Given the description of an element on the screen output the (x, y) to click on. 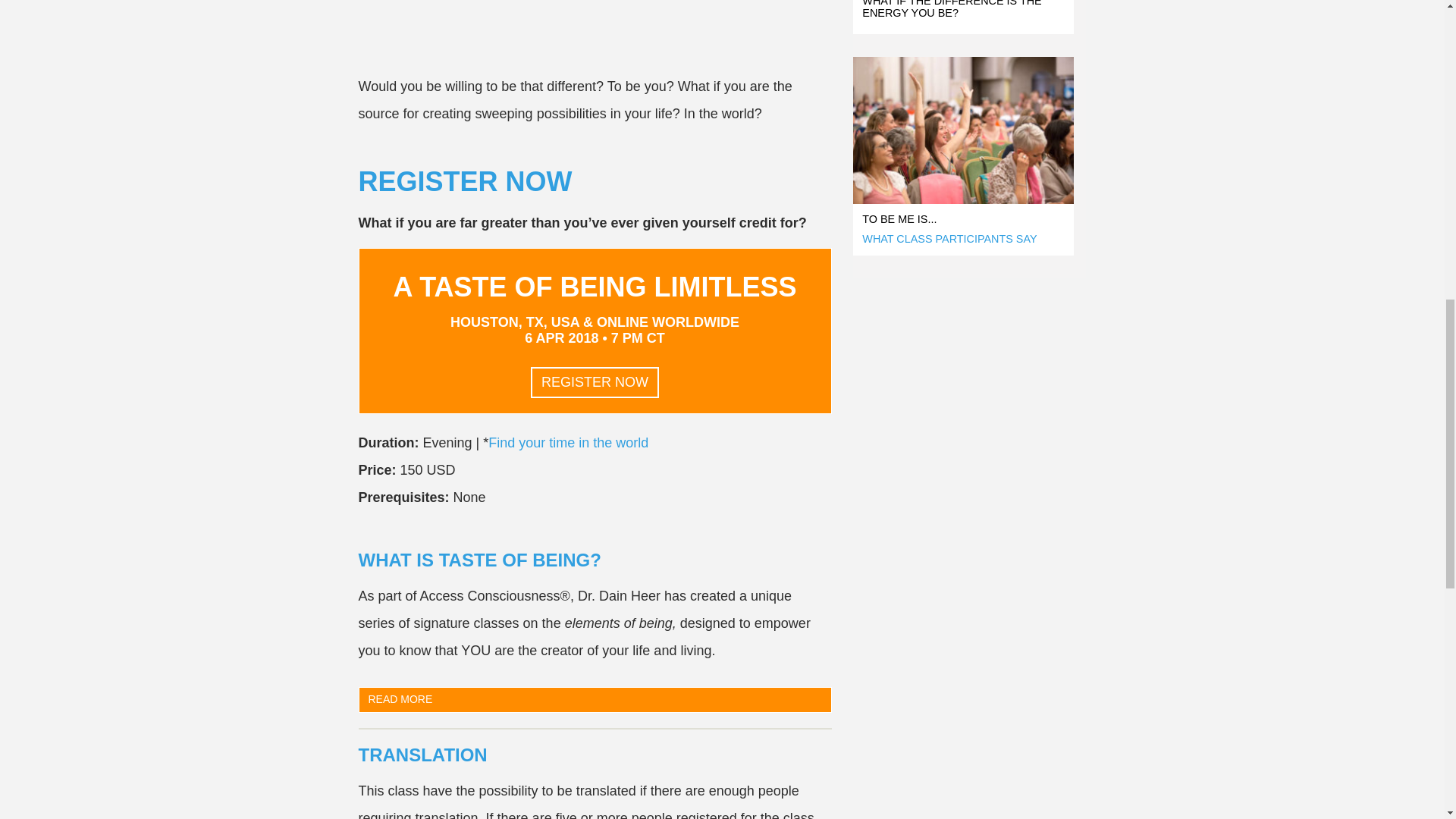
Find your time in the world (567, 442)
READ MORE (594, 699)
REGISTER NOW (595, 382)
REGISTER NOW (595, 376)
